Given the description of an element on the screen output the (x, y) to click on. 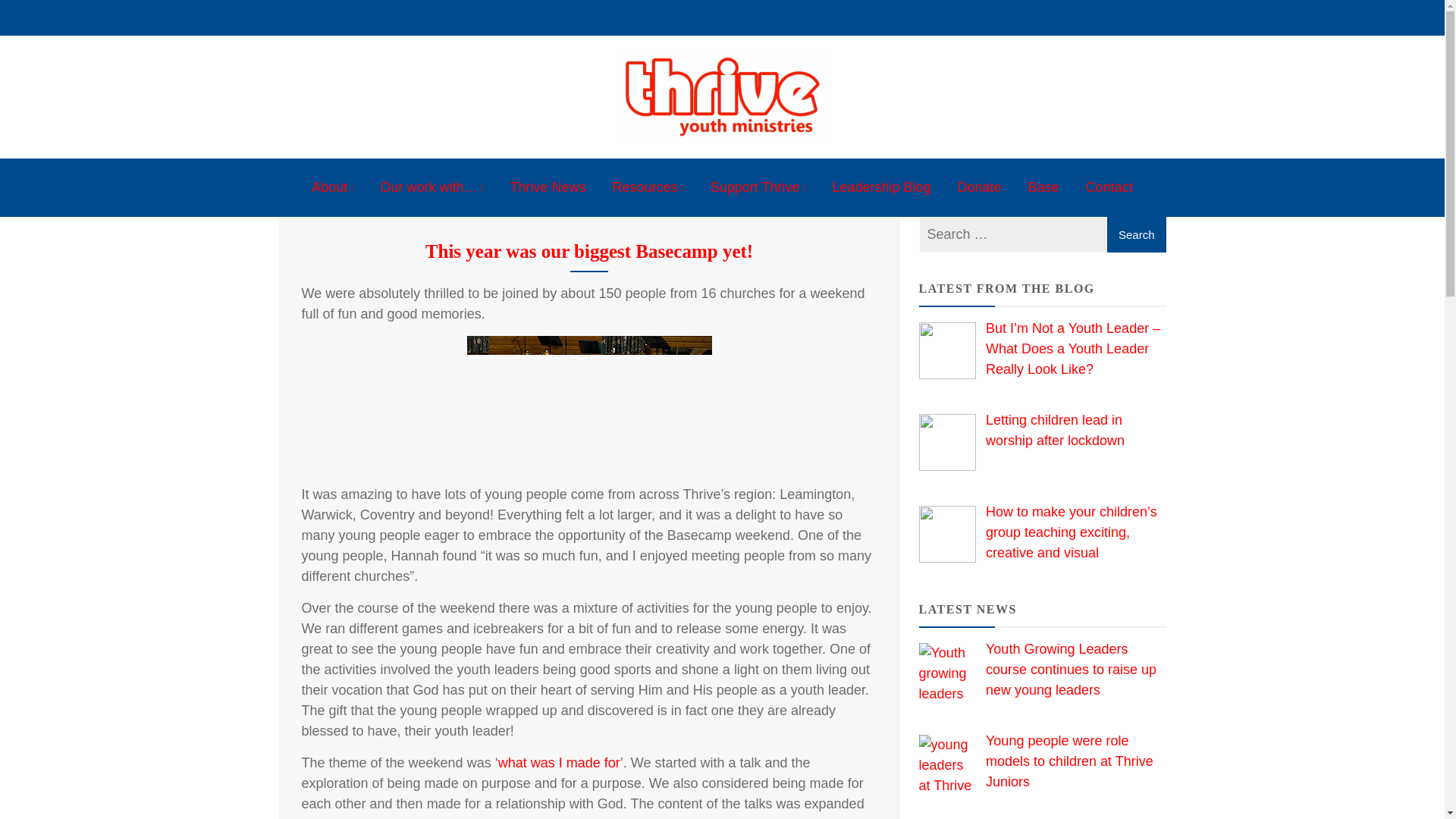
Search (1136, 234)
About (332, 187)
Thrive News (546, 187)
Thrive Youth Ministries (419, 157)
Resources (648, 187)
Search (1136, 234)
